Given the description of an element on the screen output the (x, y) to click on. 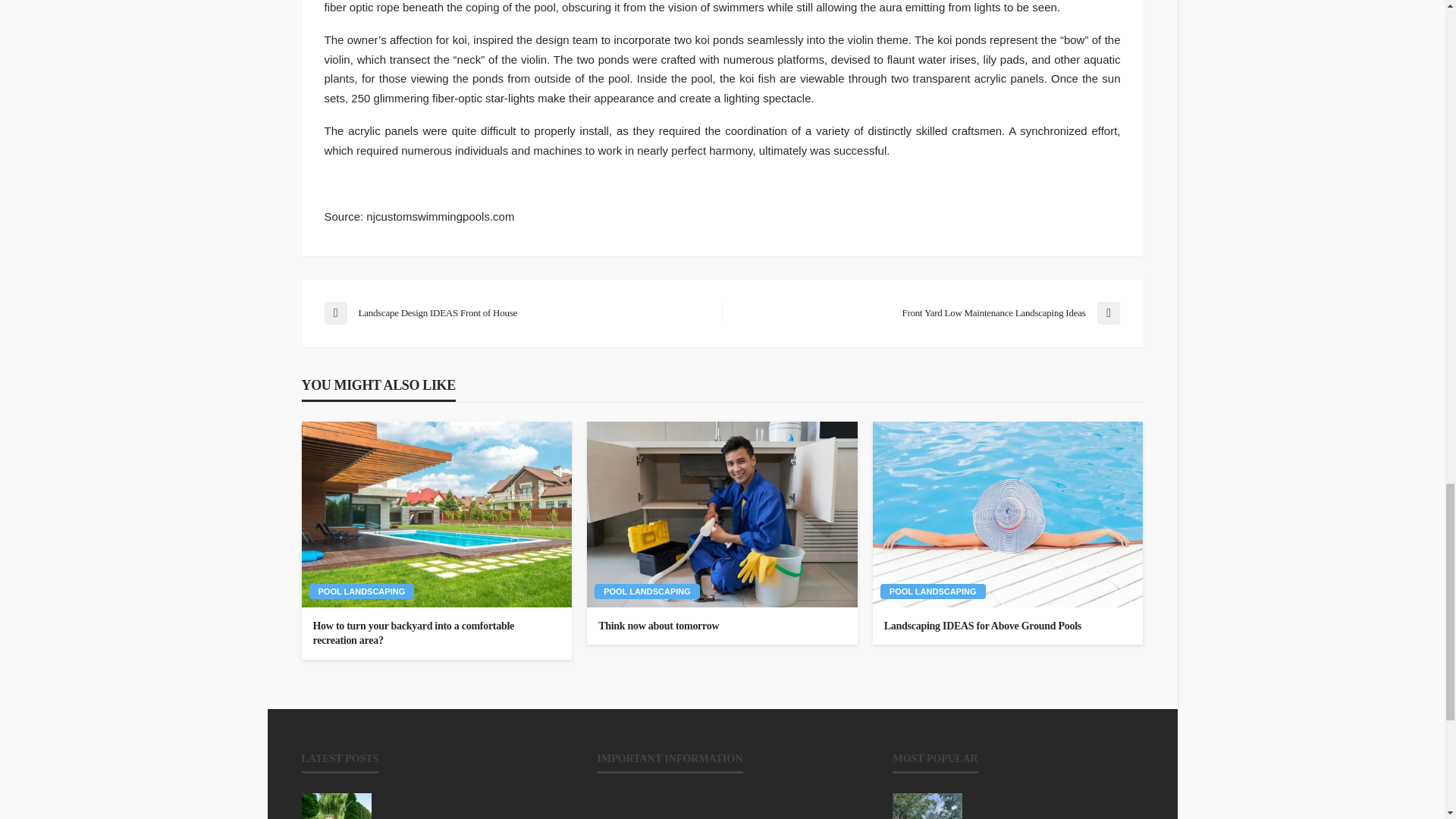
Landscape Design IDEAS Front of House (515, 313)
Think now about tomorrow (721, 626)
Front Yard Low Maintenance Landscaping Ideas (927, 313)
Landscaping IDEAS for Above Ground Pools (1007, 513)
Pool Landscaping (361, 590)
Pool Landscaping (932, 590)
Think now about tomorrow (721, 513)
Pool Landscaping (647, 590)
